Given the description of an element on the screen output the (x, y) to click on. 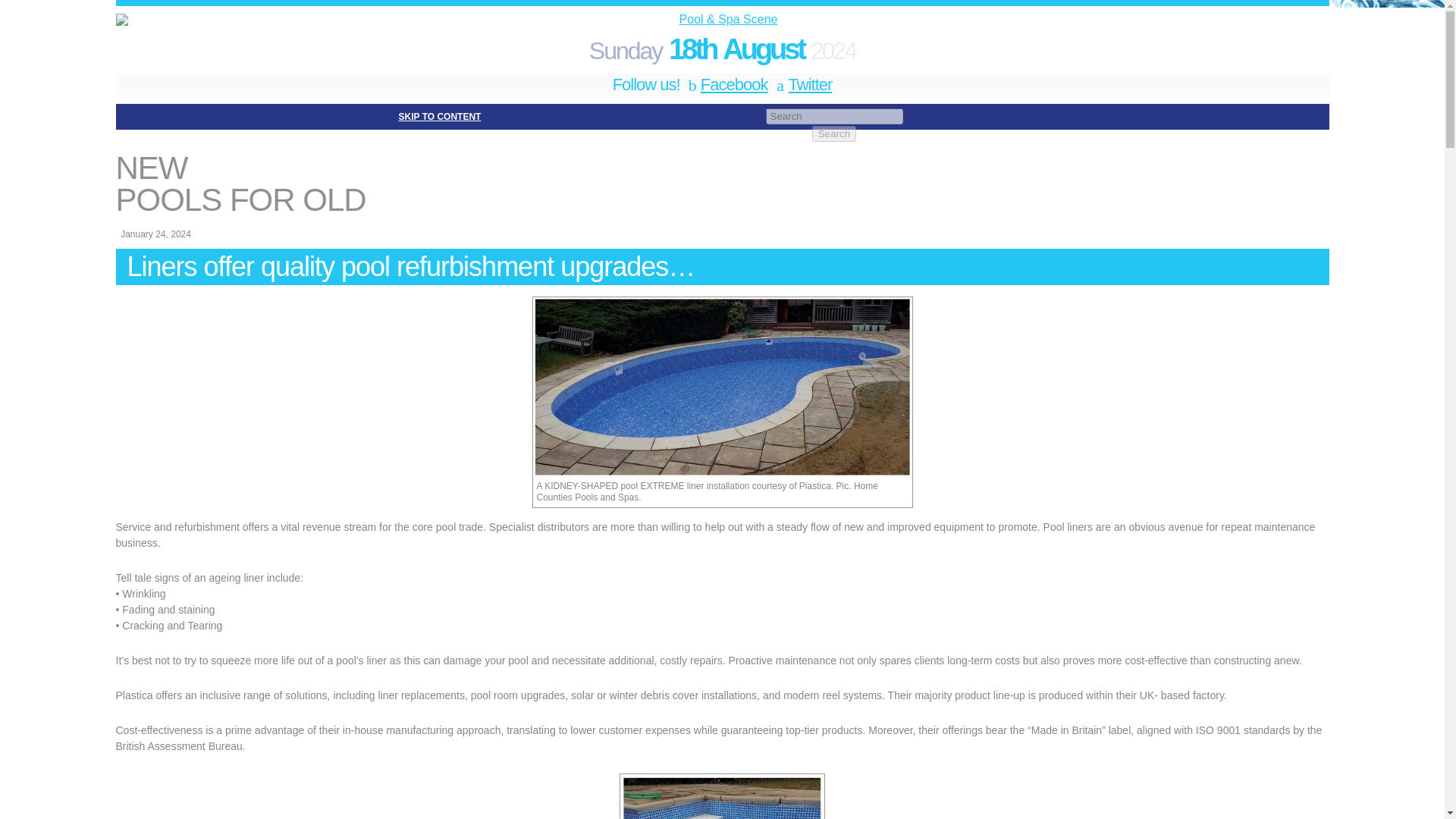
SKIP TO CONTENT (439, 116)
SUPPLIERS DIRECTORY (780, 151)
NEWS (265, 151)
HOME (219, 151)
Facebook (726, 84)
MARKETPLACE (399, 151)
CONTACT (874, 151)
Search (834, 133)
ADVERTISE (551, 151)
SUBSCRIBE (479, 151)
